Given the description of an element on the screen output the (x, y) to click on. 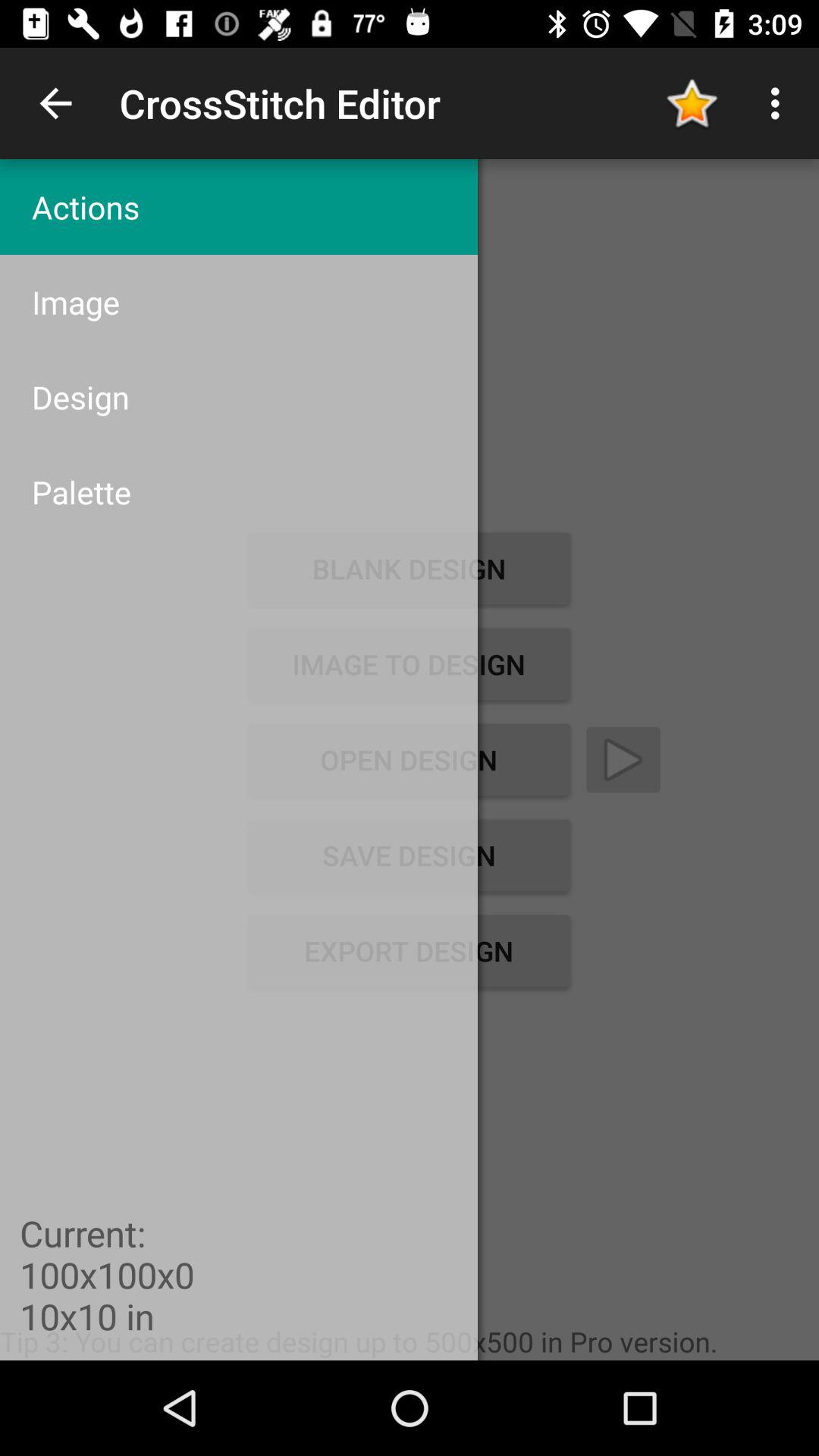
click icon below open design item (409, 855)
